Given the description of an element on the screen output the (x, y) to click on. 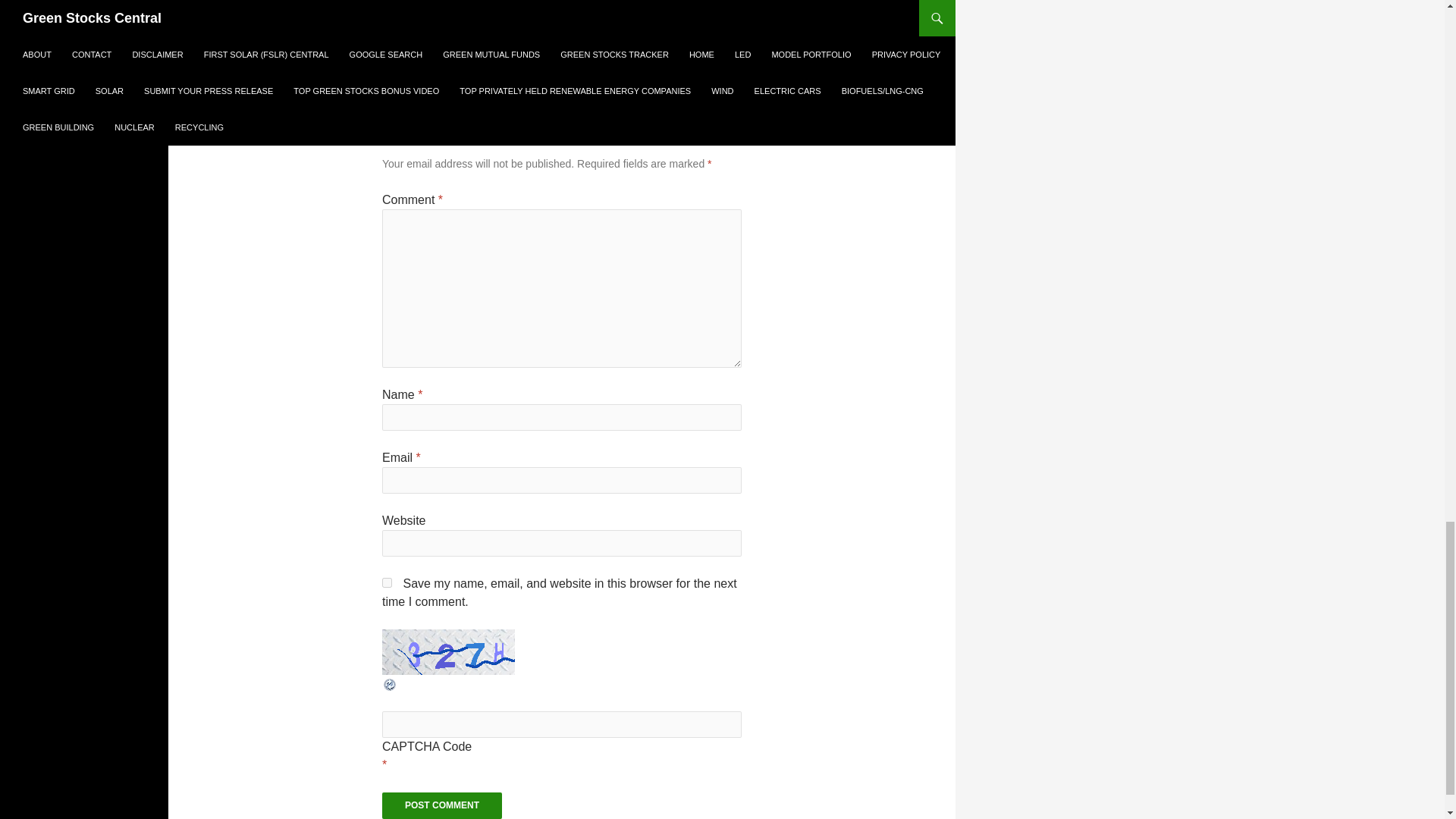
Refresh Image (389, 683)
yes (386, 583)
CAPTCHA Image (448, 651)
